Given the description of an element on the screen output the (x, y) to click on. 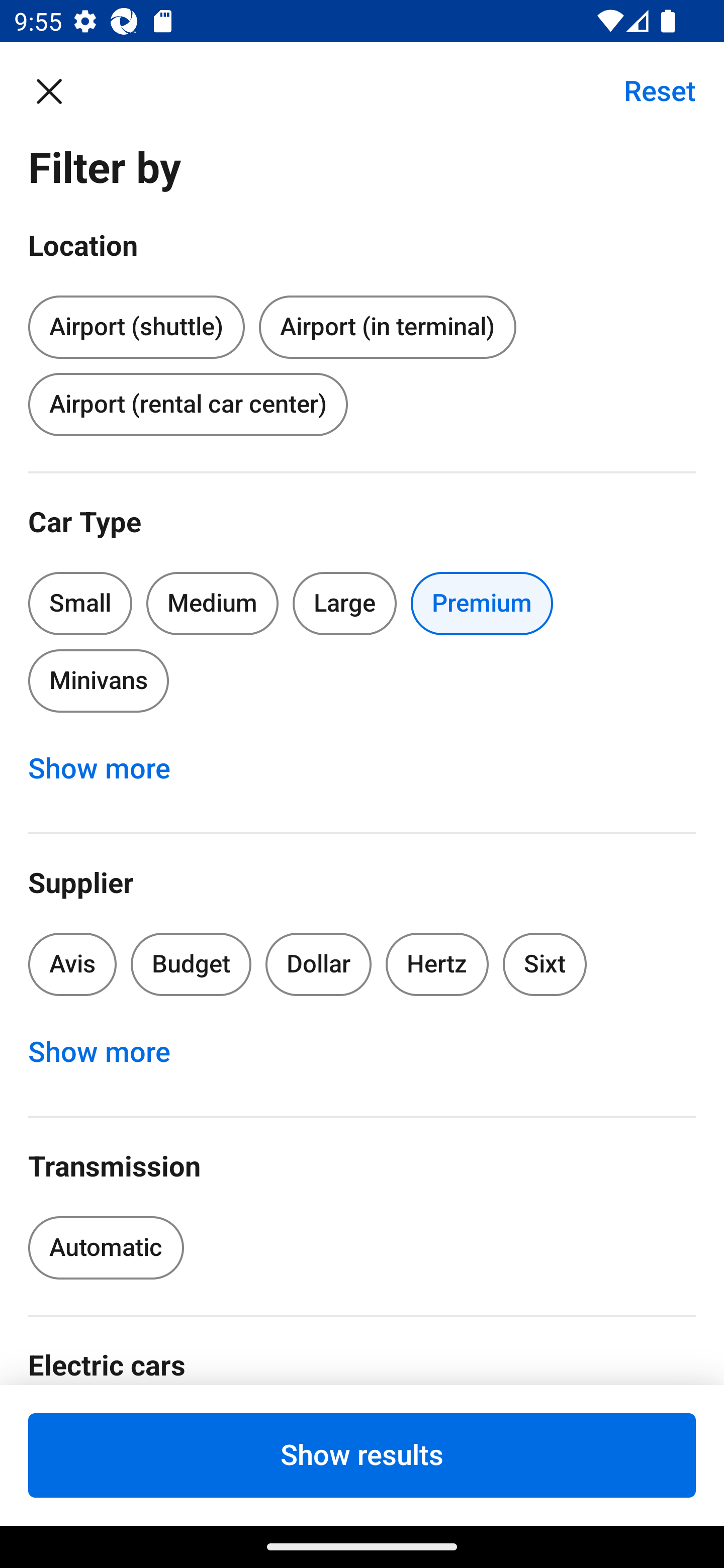
Close (59, 90)
Reset (649, 90)
Airport (shuttle) (136, 323)
Airport (in terminal) (387, 327)
Airport (rental car center) (187, 404)
Small (80, 603)
Medium (212, 603)
Large (344, 603)
Minivans (98, 680)
Show more (109, 767)
Avis (72, 963)
Budget (191, 963)
Dollar (318, 963)
Hertz (437, 963)
Sixt (544, 963)
Show more (109, 1051)
Automatic (105, 1247)
Show results (361, 1454)
